Given the description of an element on the screen output the (x, y) to click on. 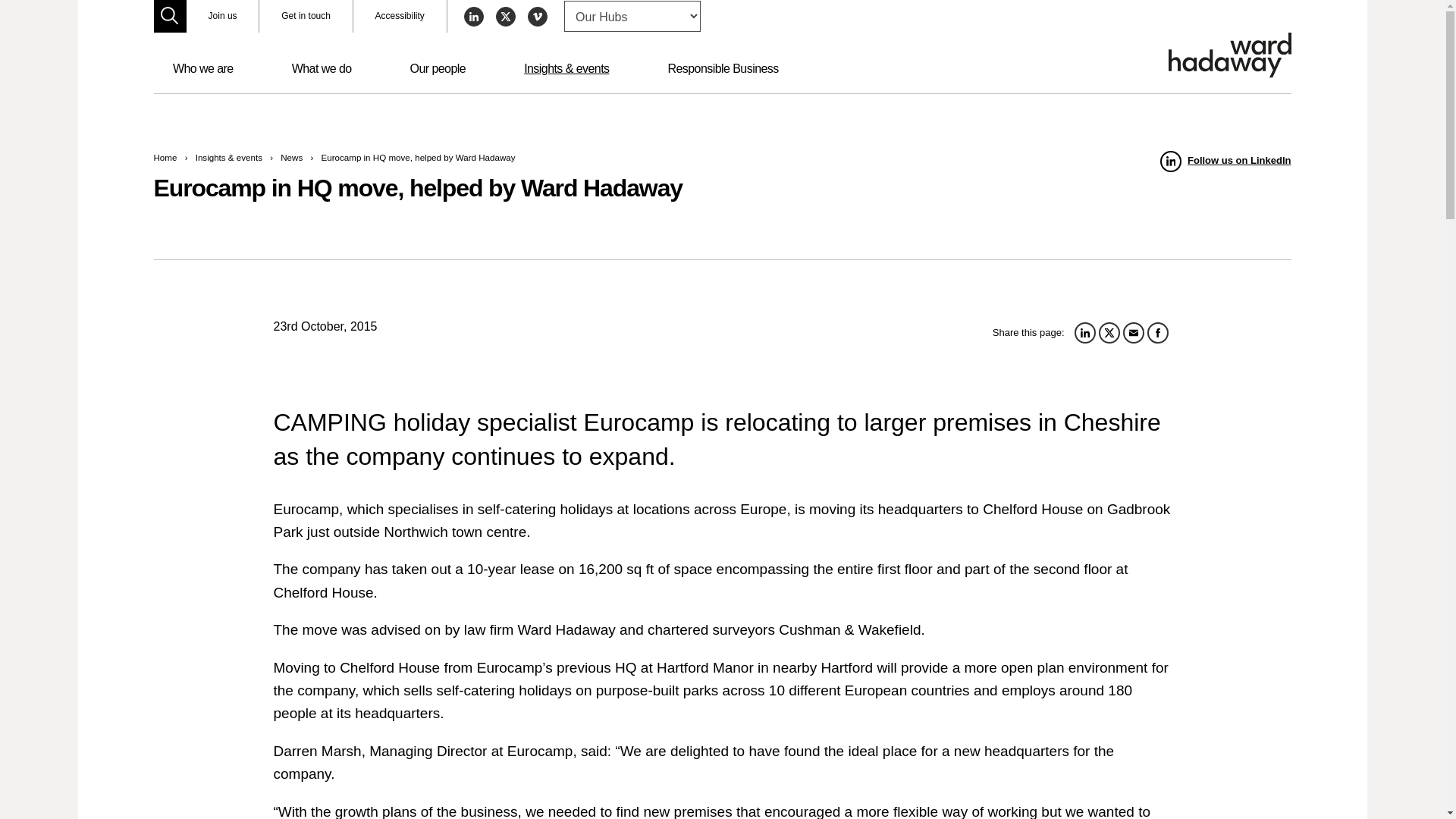
What we do (321, 68)
Accessibility (399, 16)
Follow Ward Hadaway on Vimeo (537, 16)
Responsible Business (722, 68)
Join us (222, 16)
Return to the Ward Hadaway homepage (1228, 54)
Who we are (202, 68)
Follow Ward Hadaway on Twitter (505, 16)
Get in touch (305, 16)
Follow us on LinkedIn (1225, 160)
